Given the description of an element on the screen output the (x, y) to click on. 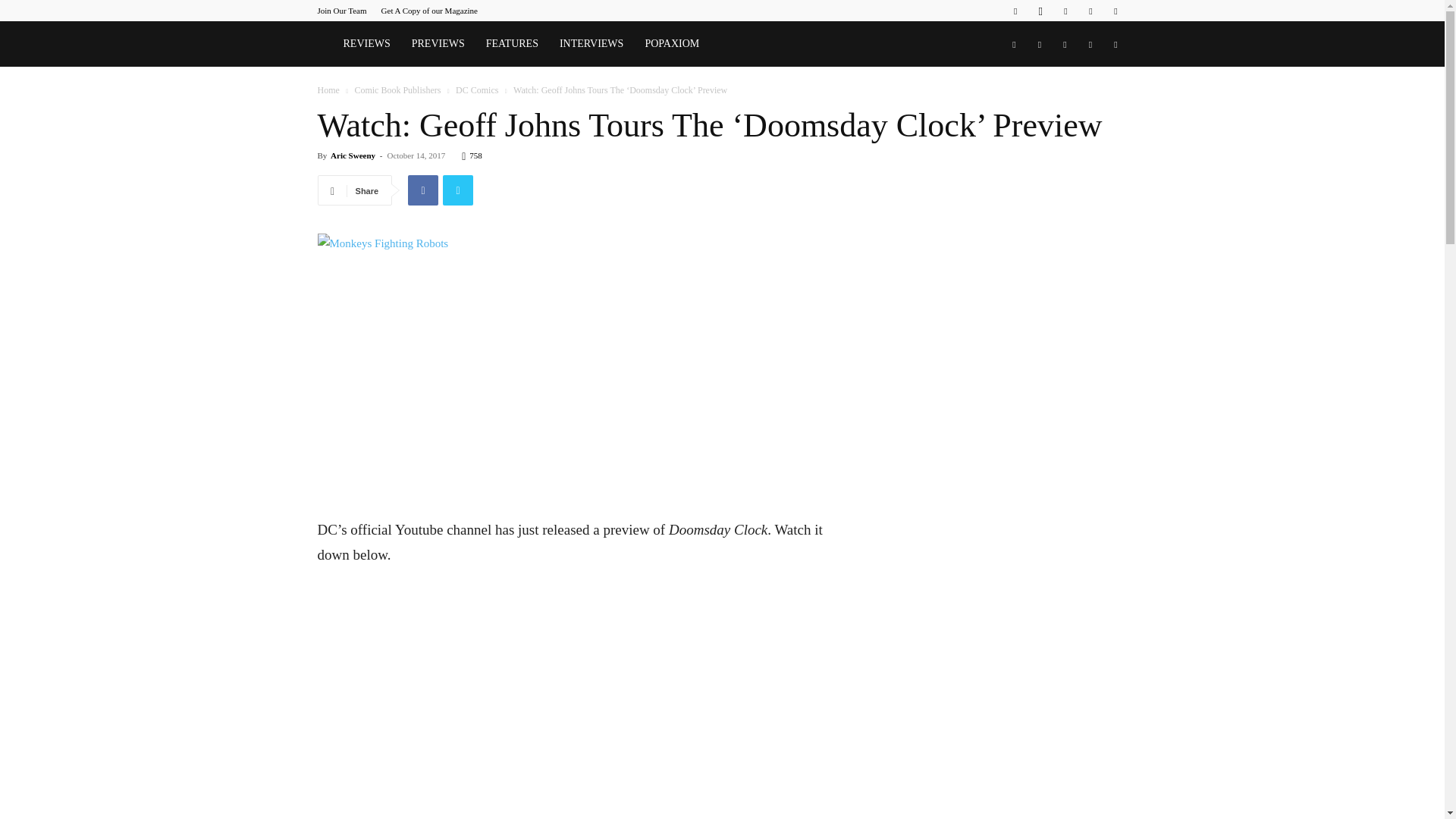
FEATURES (512, 43)
Youtube (1114, 10)
REVIEWS (365, 43)
POPAXIOM (671, 43)
Get A Copy of our Magazine (429, 10)
PREVIEWS (438, 43)
Comic Book Publishers (397, 90)
DC Comics (476, 90)
Facebook (1015, 10)
Aric Sweeny (352, 154)
View all posts in Comic Book Publishers (397, 90)
INTERVIEWS (590, 43)
Instagram (1040, 10)
Join Our Team (341, 10)
Reddit (1065, 10)
